Given the description of an element on the screen output the (x, y) to click on. 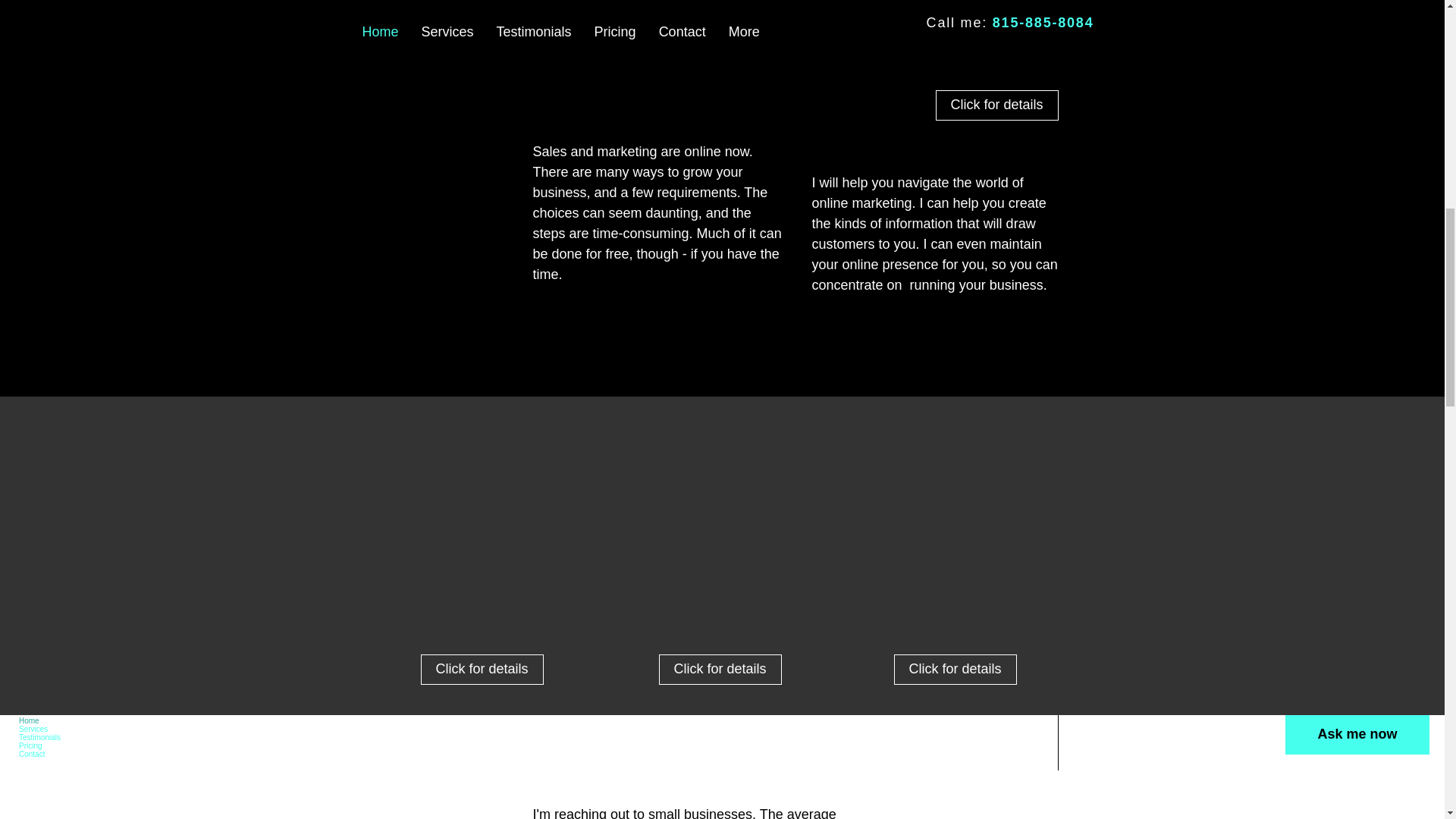
Click for details (719, 669)
Click for details (997, 105)
Click for details (481, 669)
Click for details (954, 669)
